Given the description of an element on the screen output the (x, y) to click on. 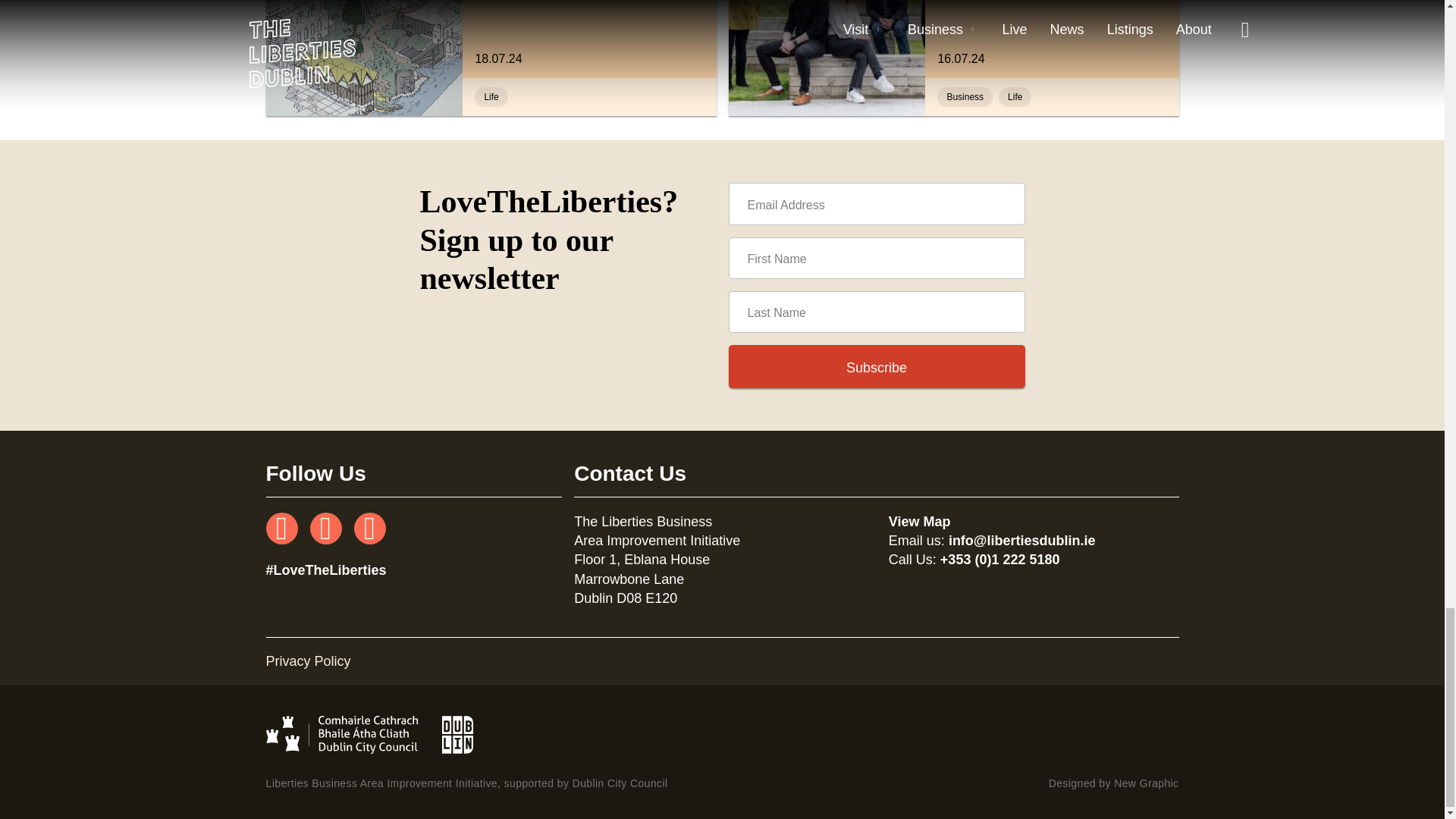
Subscribe (589, 38)
First Name (876, 366)
Life (876, 258)
Business (1014, 96)
Email Address (964, 96)
Subscribe (876, 203)
Last Name (876, 366)
Life (1050, 38)
